Given the description of an element on the screen output the (x, y) to click on. 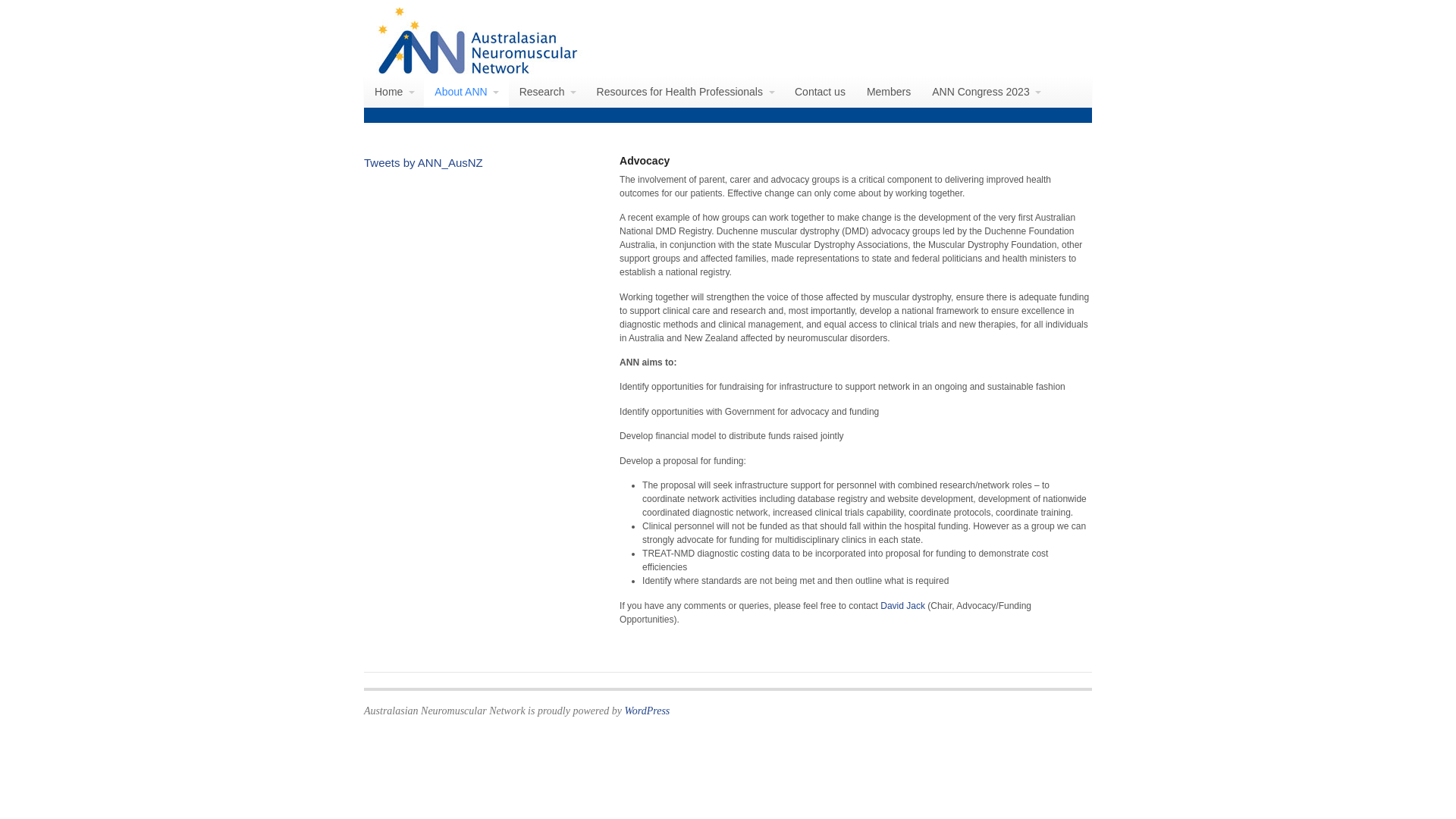
Australasian Neuromuscular Network blog site Element type: hover (477, 68)
WordPress Element type: text (646, 710)
Home Element type: text (393, 91)
Contact us Element type: text (820, 91)
About ANN Element type: text (465, 91)
ANN Congress 2023 Element type: text (985, 91)
Members Element type: text (888, 91)
Research Element type: text (547, 91)
Tweets by ANN_AusNZ Element type: text (423, 162)
Resources for Health Professionals Element type: text (685, 91)
David Jack Element type: text (902, 605)
